Given the description of an element on the screen output the (x, y) to click on. 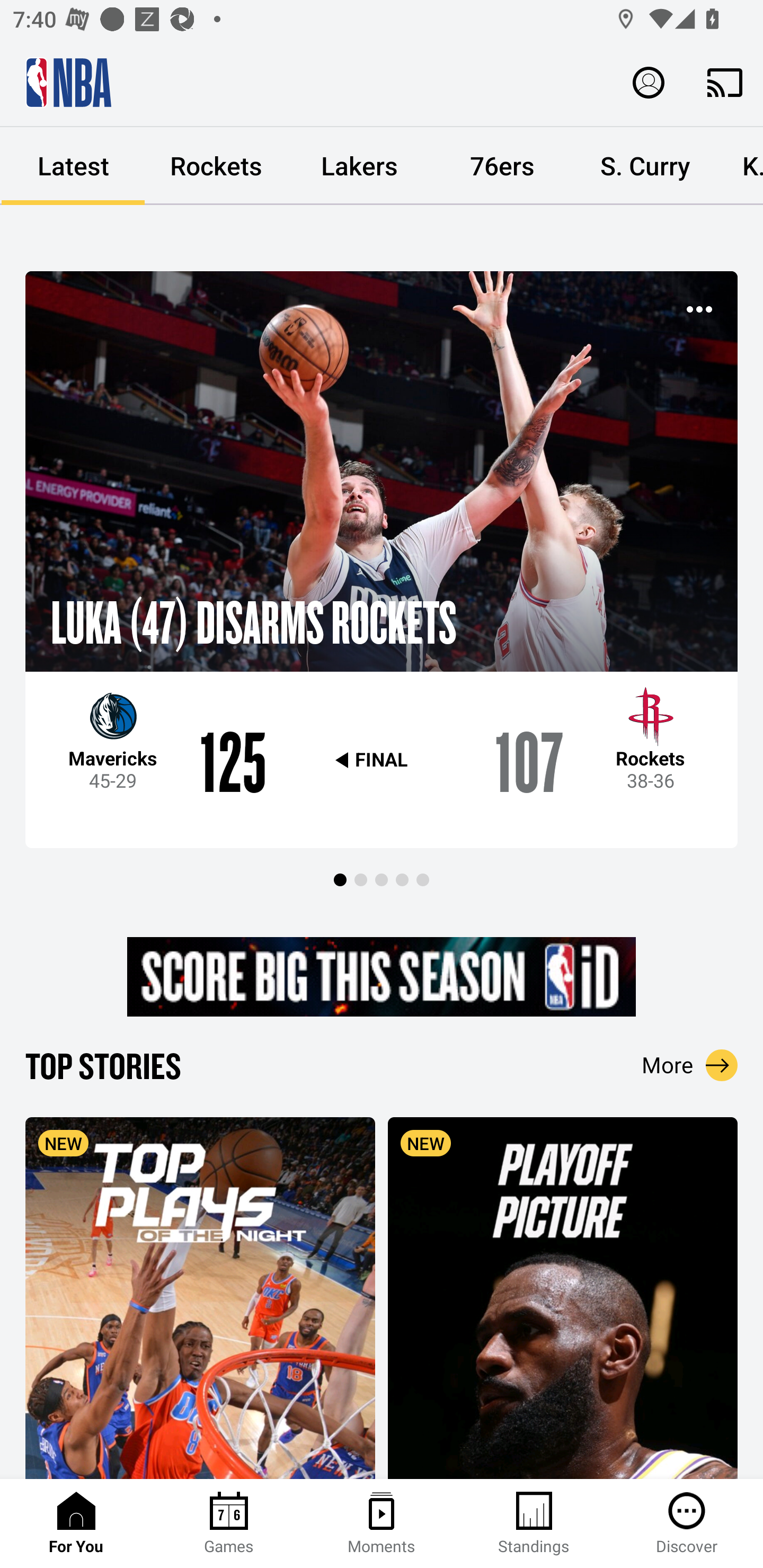
Cast. Disconnected (724, 82)
Profile (648, 81)
Rockets (215, 166)
Lakers (359, 166)
76ers (502, 166)
S. Curry (645, 166)
TOP STORIES More NEW NEW (381, 1260)
More (689, 1064)
NEW (200, 1297)
NEW (562, 1297)
Games (228, 1523)
Moments (381, 1523)
Standings (533, 1523)
Discover (686, 1523)
